Given the description of an element on the screen output the (x, y) to click on. 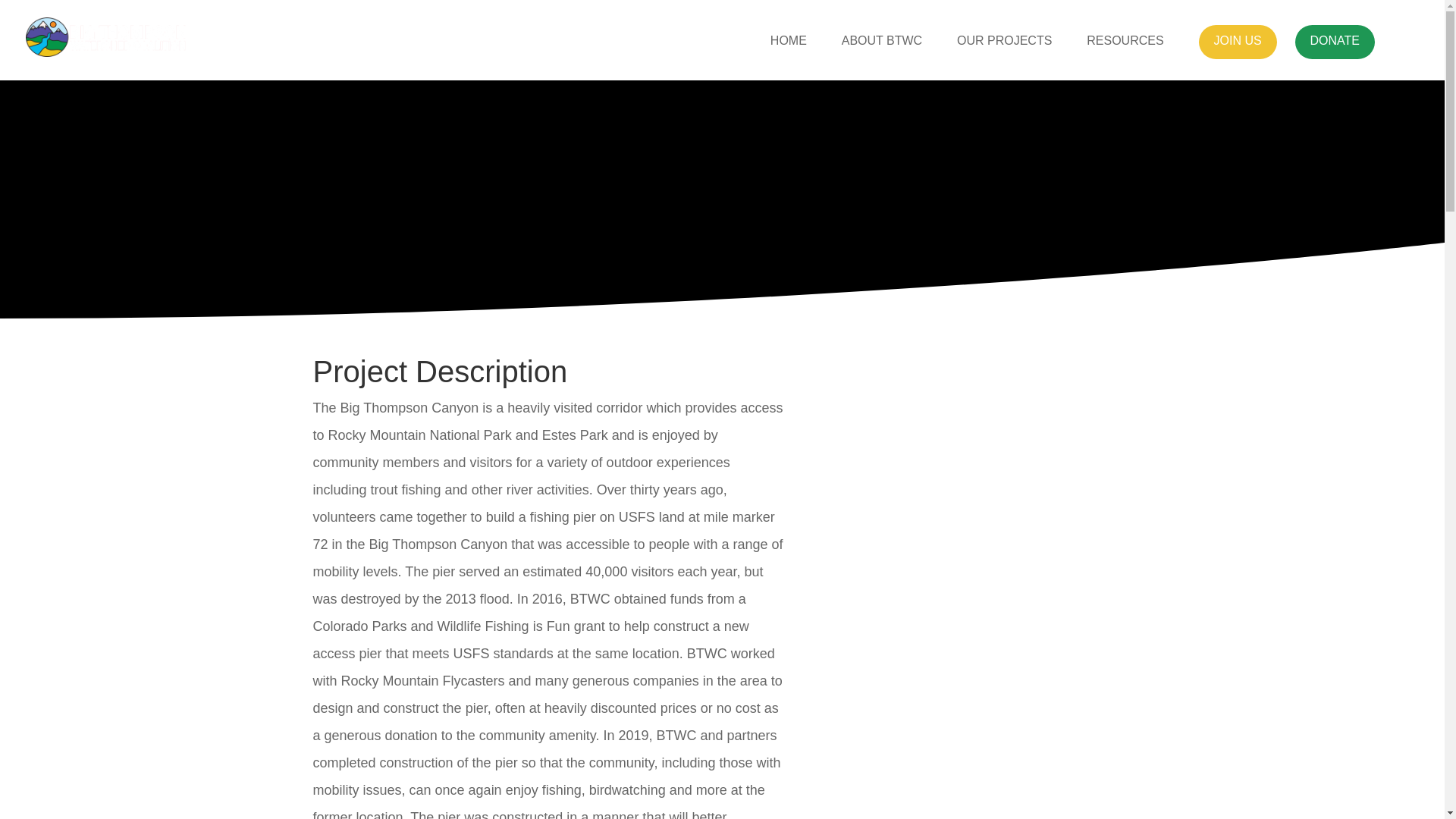
ABOUT BTWC (881, 44)
RESOURCES (1124, 44)
JOIN US (1236, 44)
OUR PROJECTS (1003, 44)
HOME (788, 44)
DONATE (1334, 44)
